Given the description of an element on the screen output the (x, y) to click on. 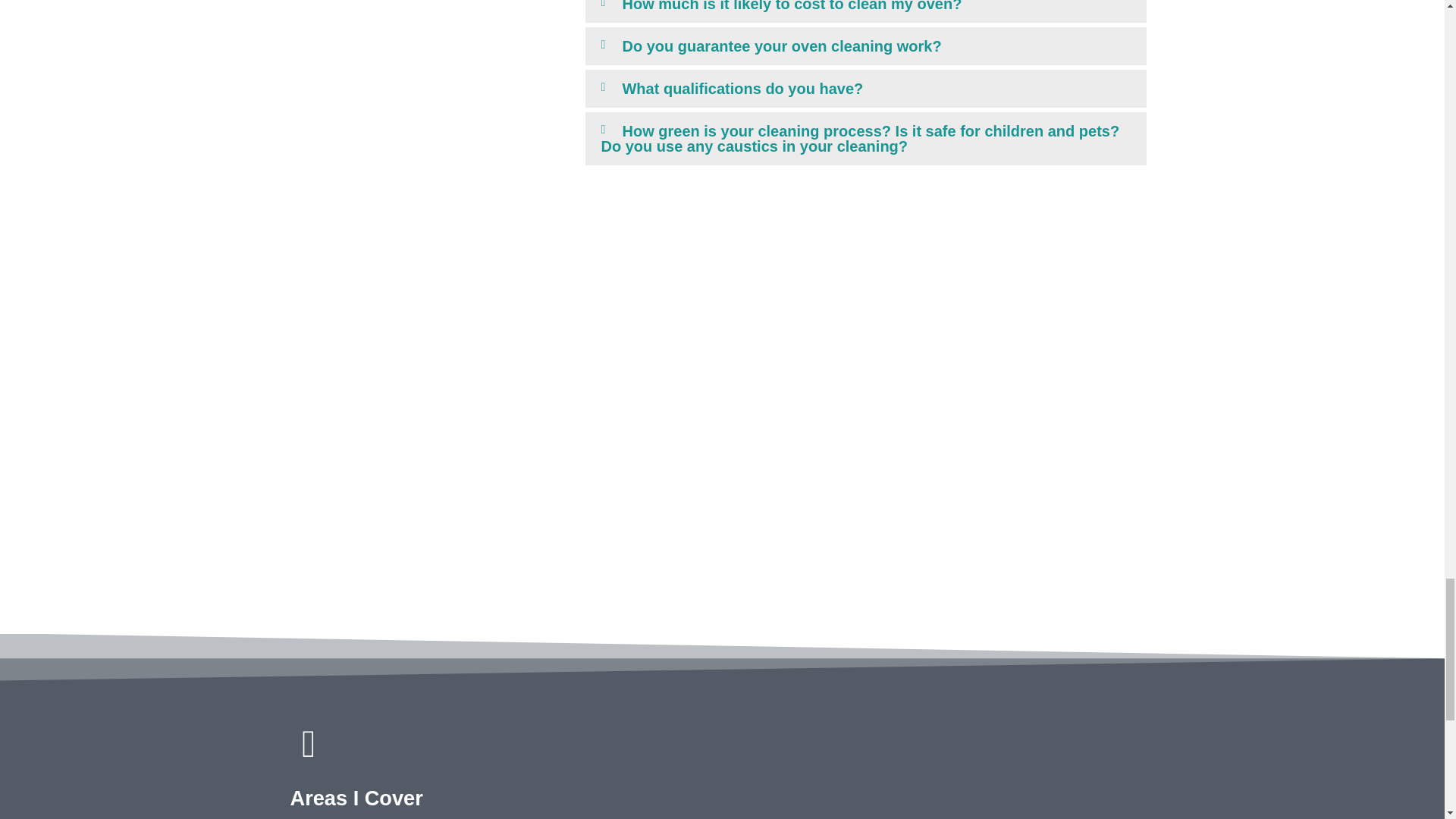
What qualifications do you have? (742, 88)
Kings Langley, Hertforshire, United Kingdom (943, 780)
Do you guarantee your oven cleaning work? (780, 45)
How much is it likely to cost to clean my oven? (790, 6)
